Given the description of an element on the screen output the (x, y) to click on. 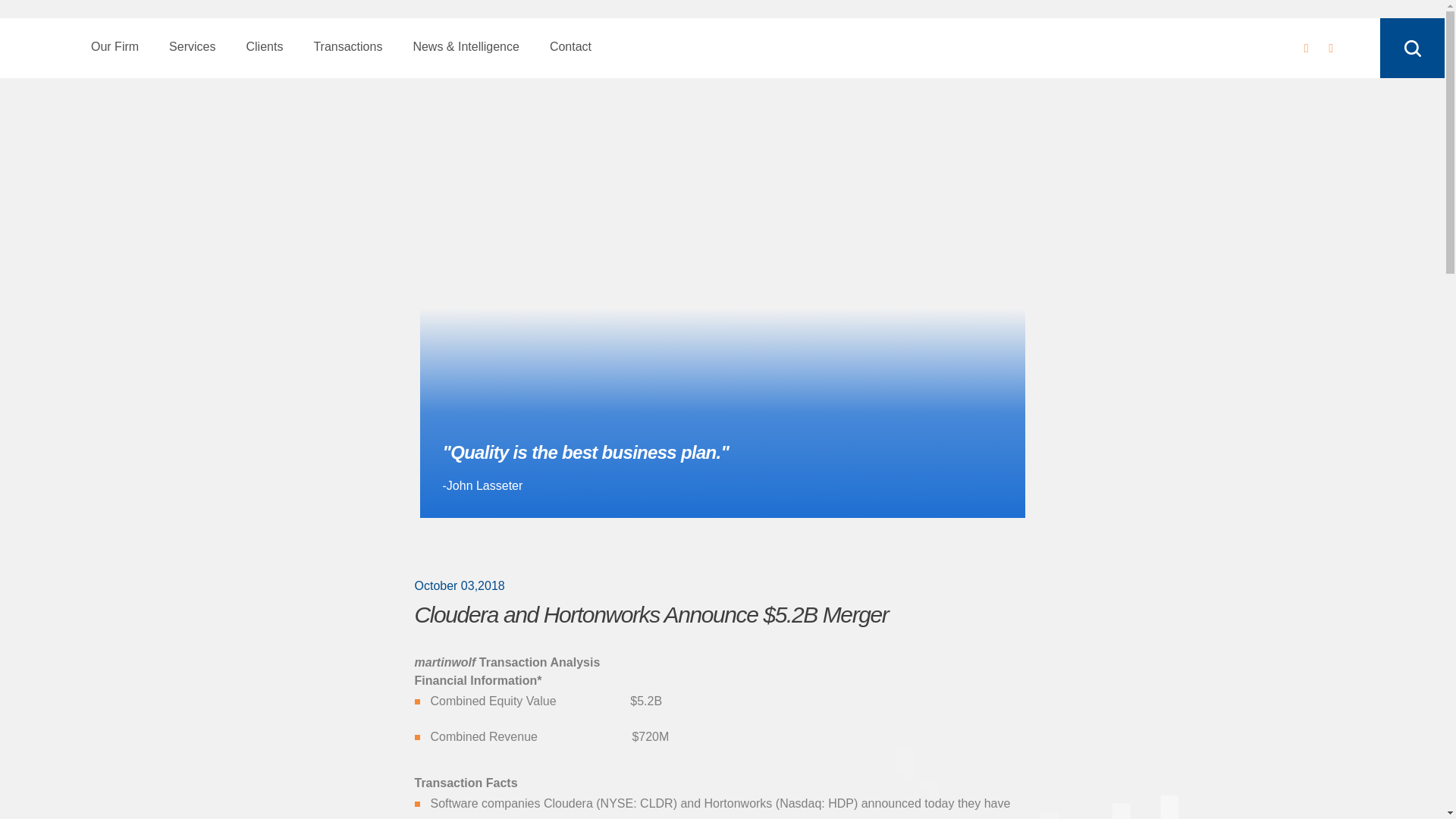
Our Firm (114, 47)
Services (191, 47)
Contact (570, 47)
Transactions (346, 47)
